Given the description of an element on the screen output the (x, y) to click on. 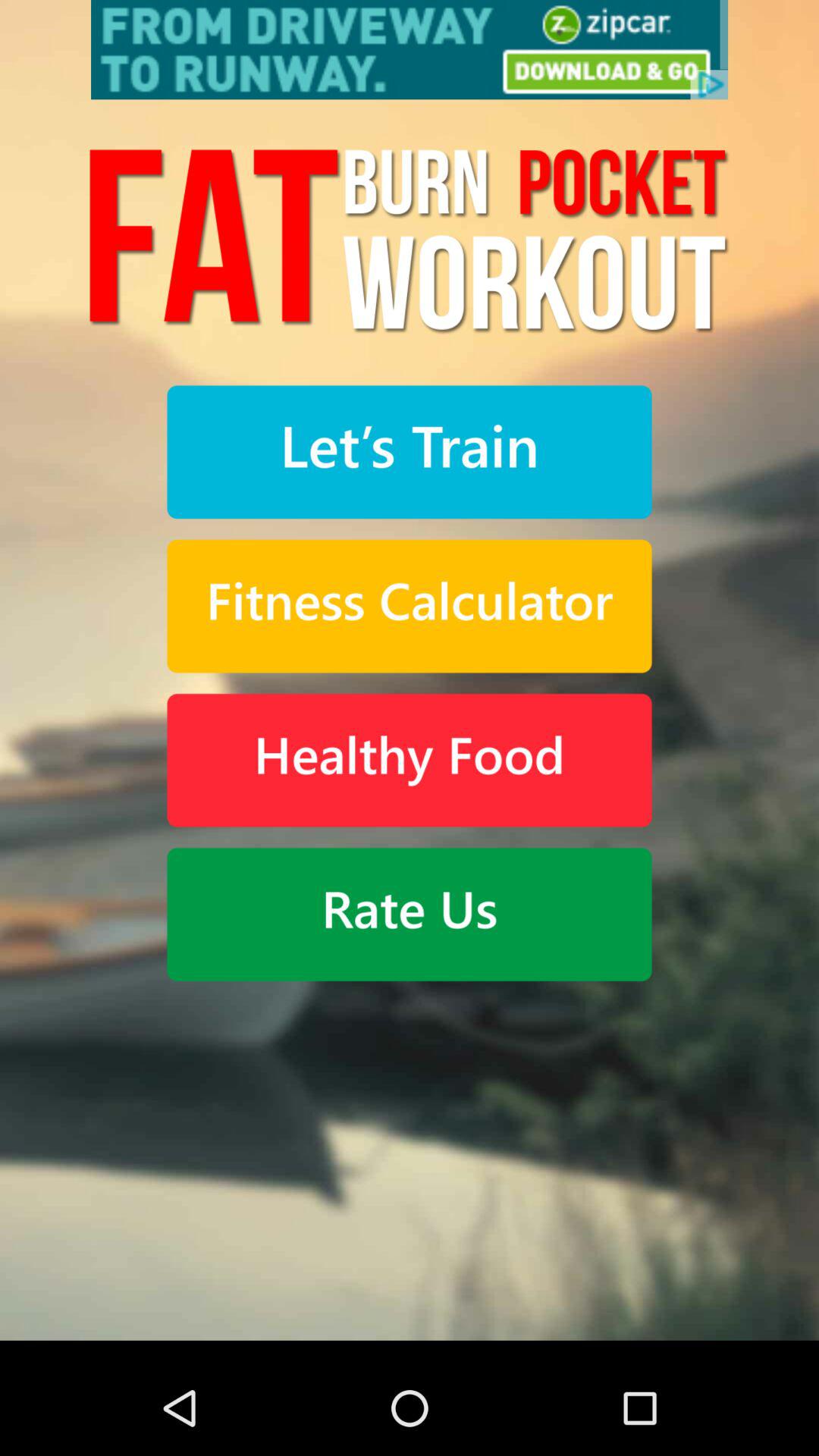
rate app button (409, 914)
